Given the description of an element on the screen output the (x, y) to click on. 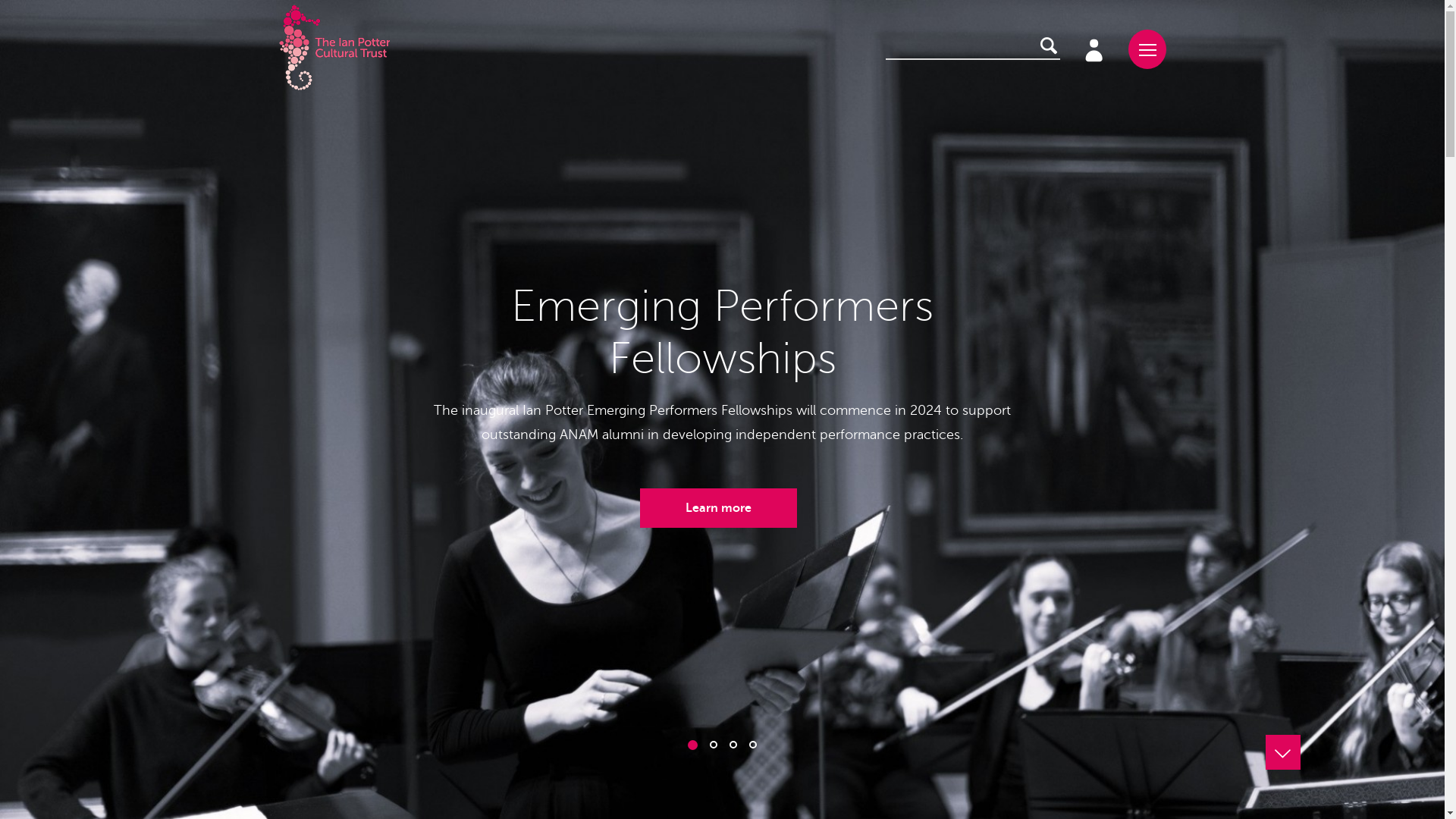
1 Element type: text (692, 744)
3 Element type: text (733, 744)
4 Element type: text (752, 744)
Existing account holders Element type: hover (1092, 48)
Ian Potter Cultural Trust Element type: text (334, 48)
Learn more Element type: text (718, 507)
2 Element type: text (713, 744)
